Given the description of an element on the screen output the (x, y) to click on. 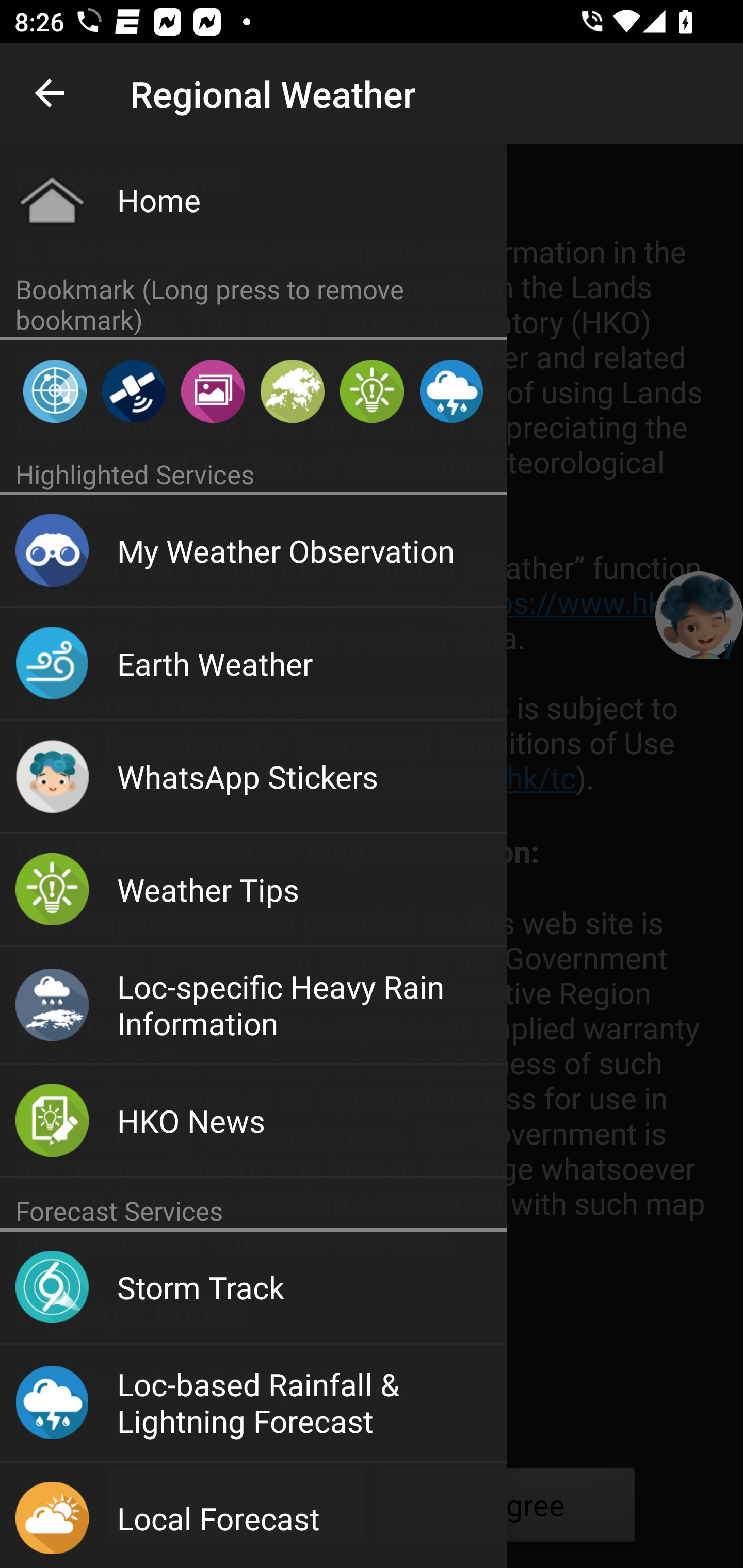
Navigate up (50, 93)
Home (253, 199)
Radar Images (54, 391)
Satellite Images (133, 391)
Weather Photos (212, 391)
Regional Weather (292, 391)
Weather Tips (371, 391)
Loc-based Rainfall & Lightning Forecast (451, 391)
My Weather Observation (253, 550)
Earth Weather (253, 664)
WhatsApp Stickers (253, 777)
Weather Tips (253, 890)
Loc-specific Heavy Rain Information (253, 1005)
HKO News (253, 1120)
Storm Track (253, 1287)
Loc-based Rainfall & Lightning Forecast (253, 1402)
Local Forecast (253, 1515)
